Given the description of an element on the screen output the (x, y) to click on. 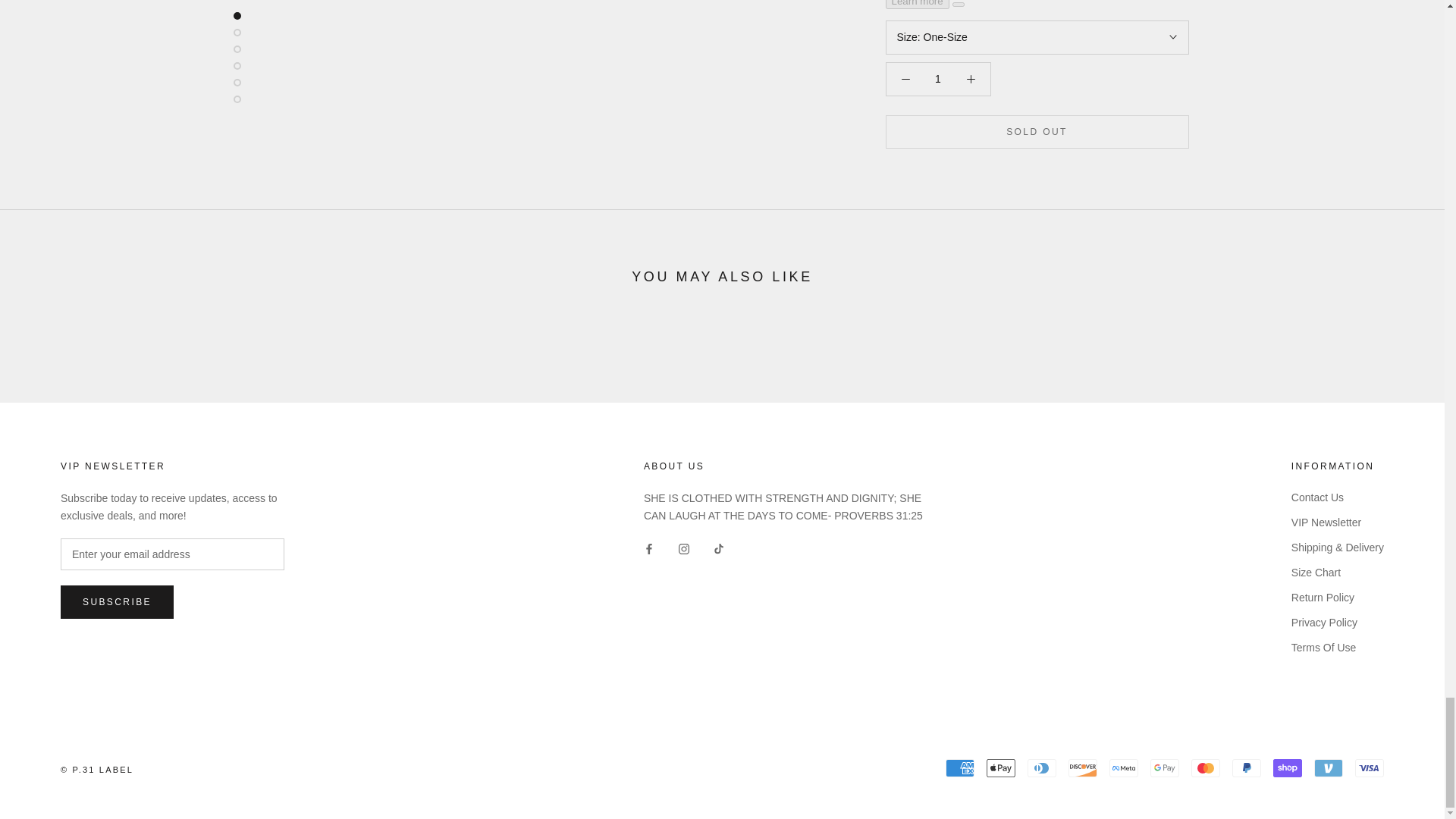
Venmo (1328, 768)
Diners Club (1042, 768)
Google Pay (1164, 768)
PayPal (1245, 768)
Visa (1369, 768)
Shop Pay (1286, 768)
Discover (1082, 768)
Apple Pay (1000, 768)
Mastercard (1205, 768)
Meta Pay (1123, 768)
